Given the description of an element on the screen output the (x, y) to click on. 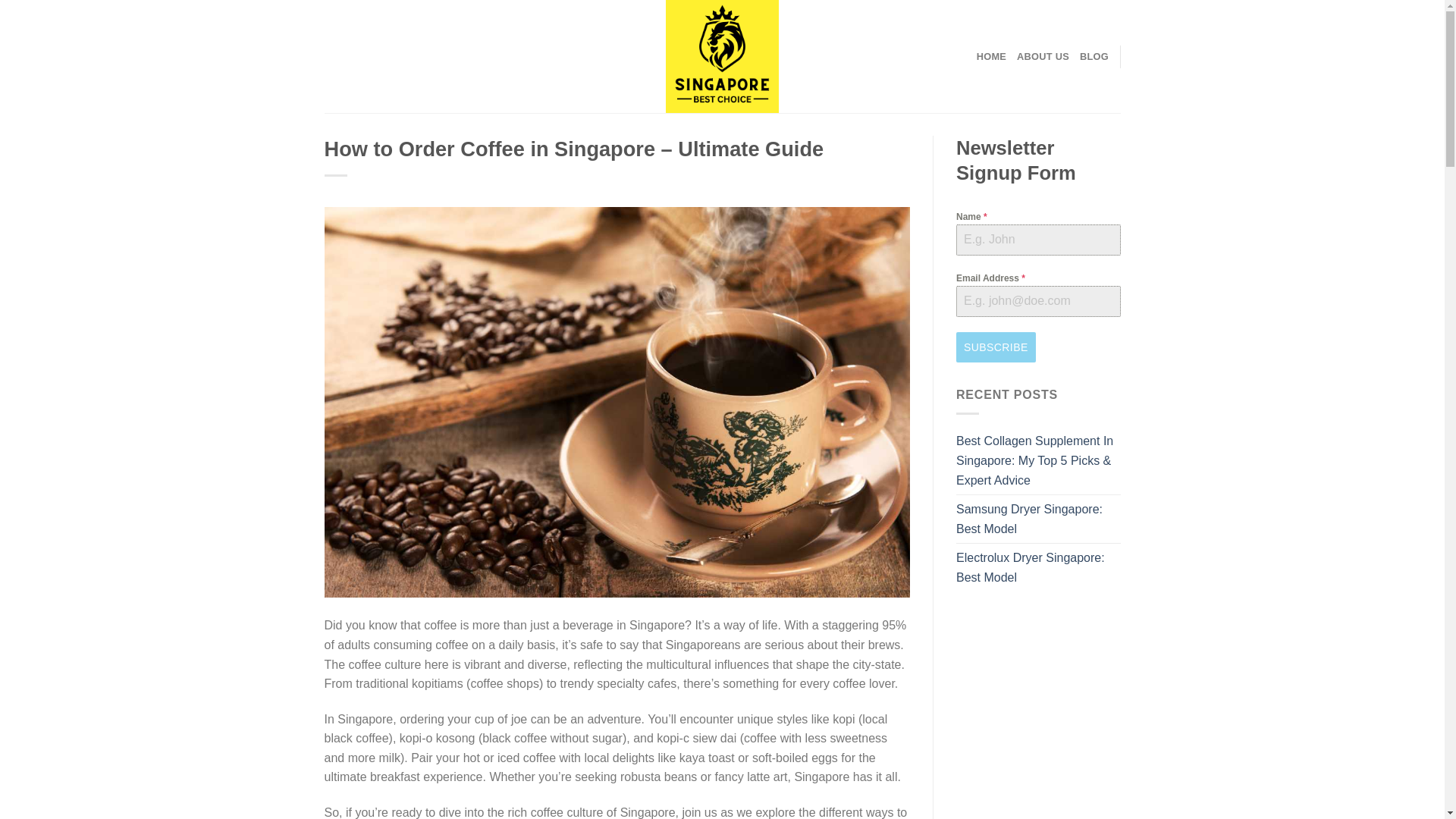
Singapore Best Choice (721, 56)
ABOUT US (1042, 56)
SUBSCRIBE (995, 347)
